Given the description of an element on the screen output the (x, y) to click on. 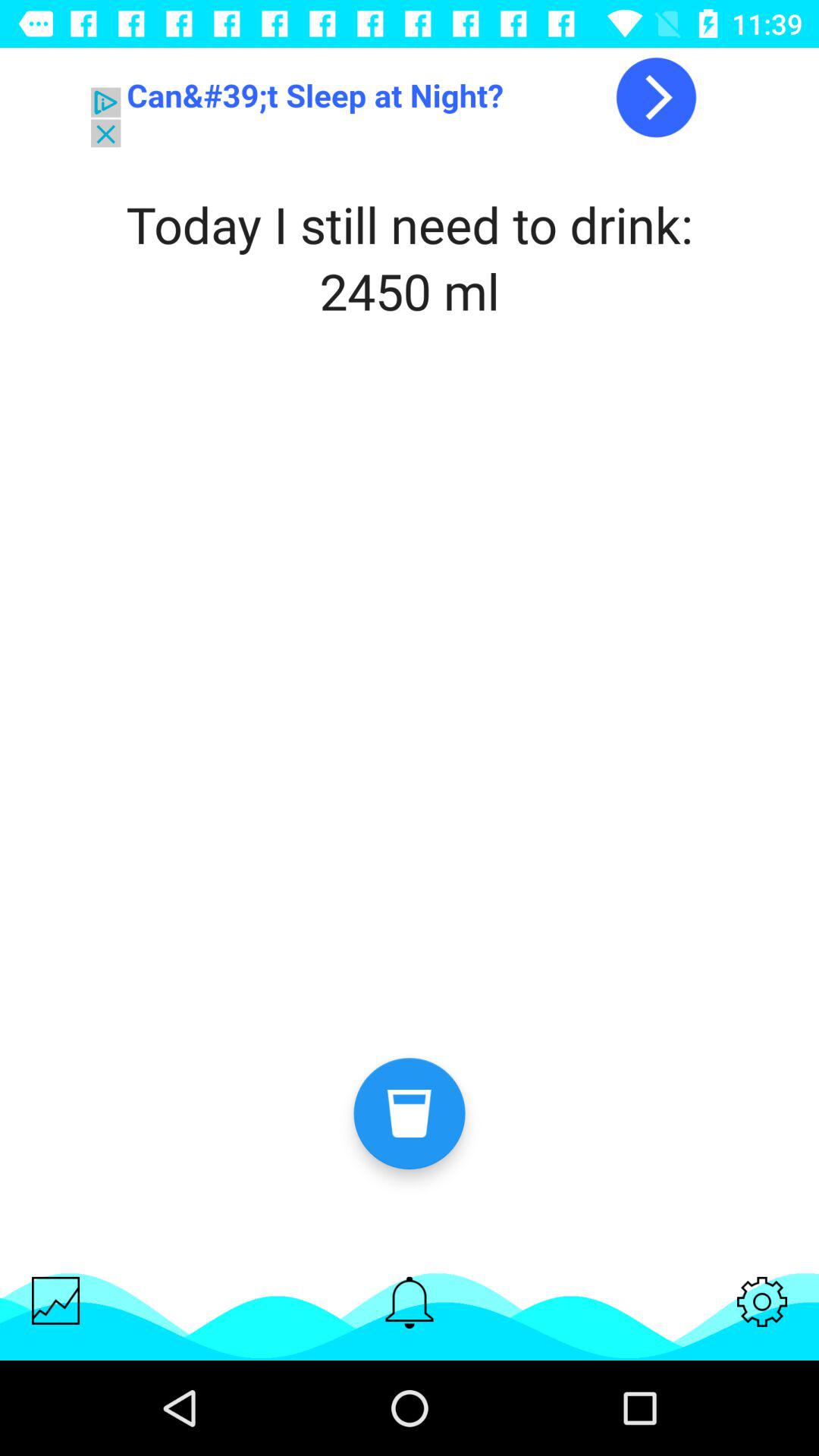
go to charts (55, 1300)
